Given the description of an element on the screen output the (x, y) to click on. 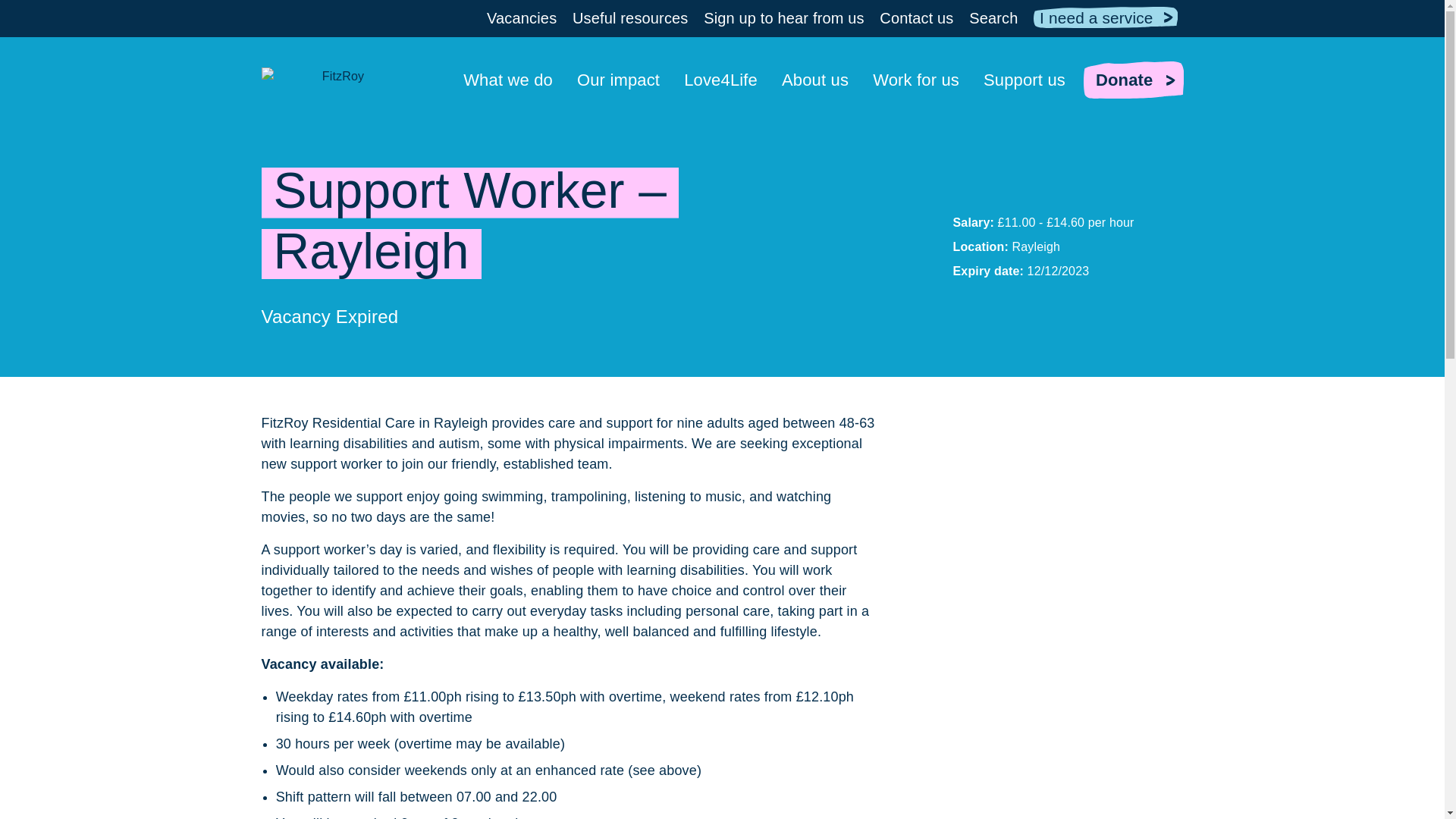
Work for us (915, 79)
What we do (508, 79)
Support us (1024, 79)
About us (814, 79)
FitzRoy (336, 84)
Our impact (617, 79)
Love4Life (720, 79)
